Given the description of an element on the screen output the (x, y) to click on. 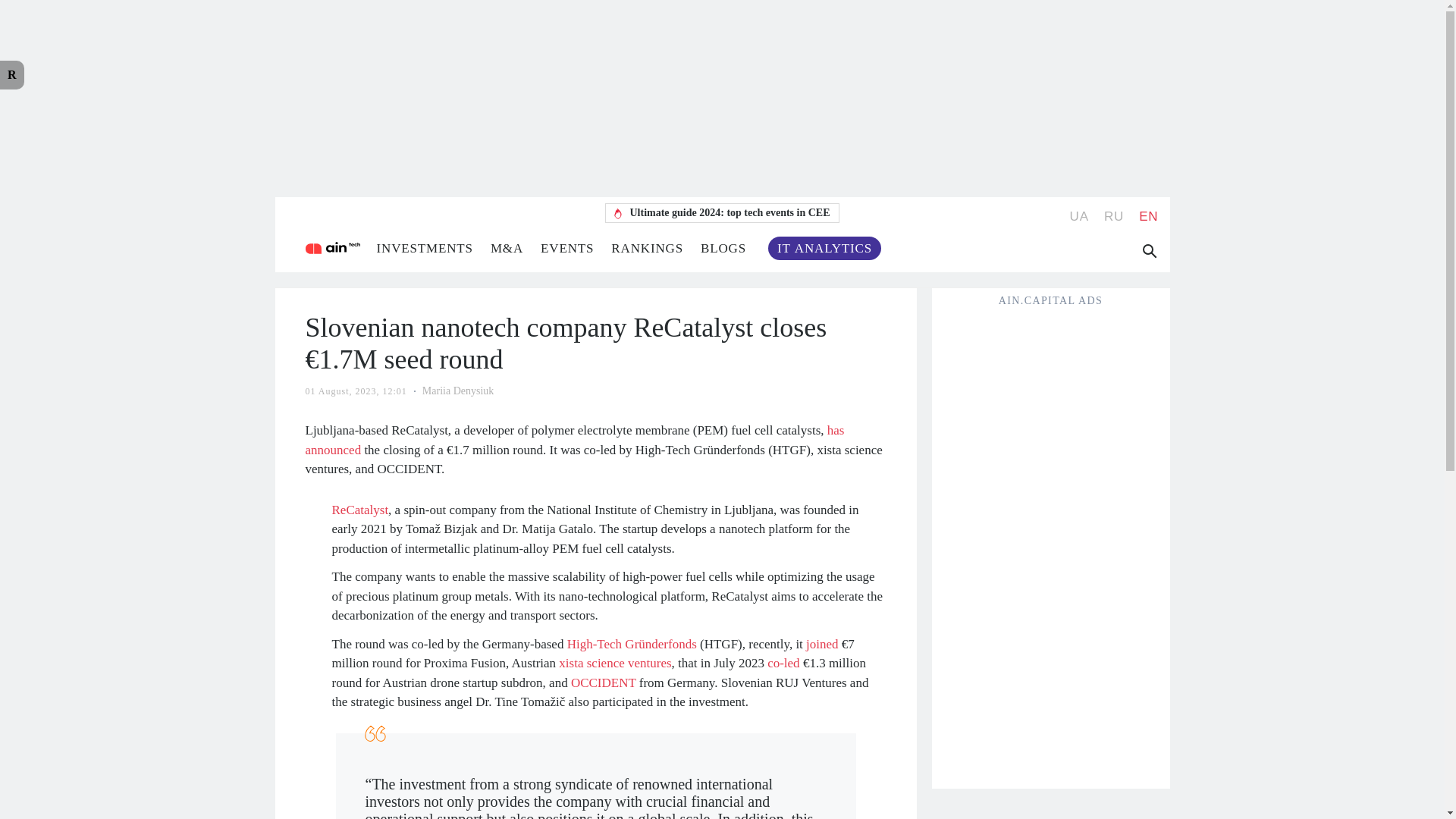
BLOGS (722, 247)
EN (1147, 216)
UA (1079, 216)
RU (1113, 216)
Ultimate guide 2024: top tech events in CEE (721, 212)
INVESTMENTS (423, 247)
RANKINGS (646, 247)
EVENTS (567, 247)
Found a mistake? Mark it and click to report using ReWord (12, 74)
